Given the description of an element on the screen output the (x, y) to click on. 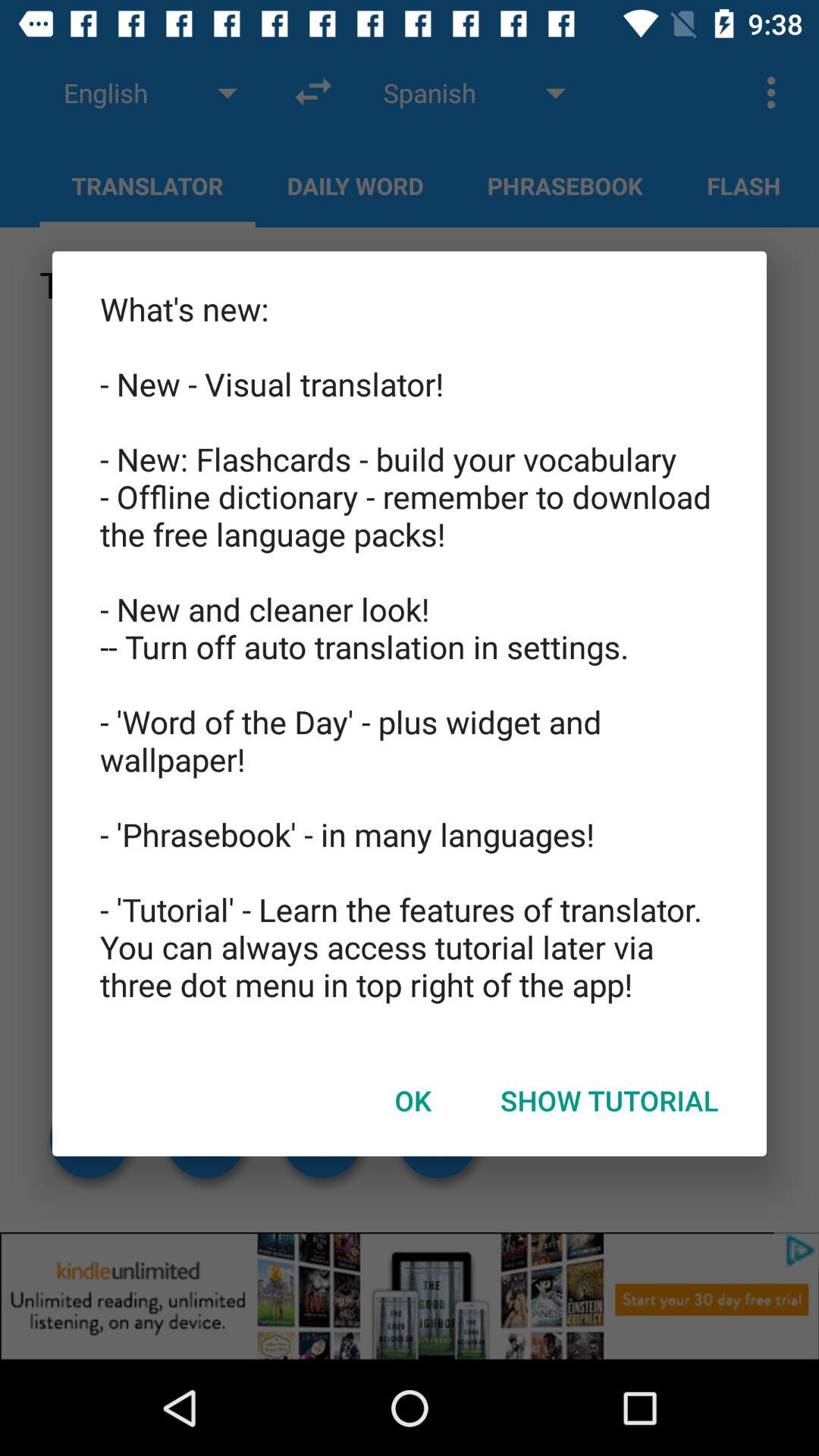
press the icon below what s new item (609, 1100)
